Given the description of an element on the screen output the (x, y) to click on. 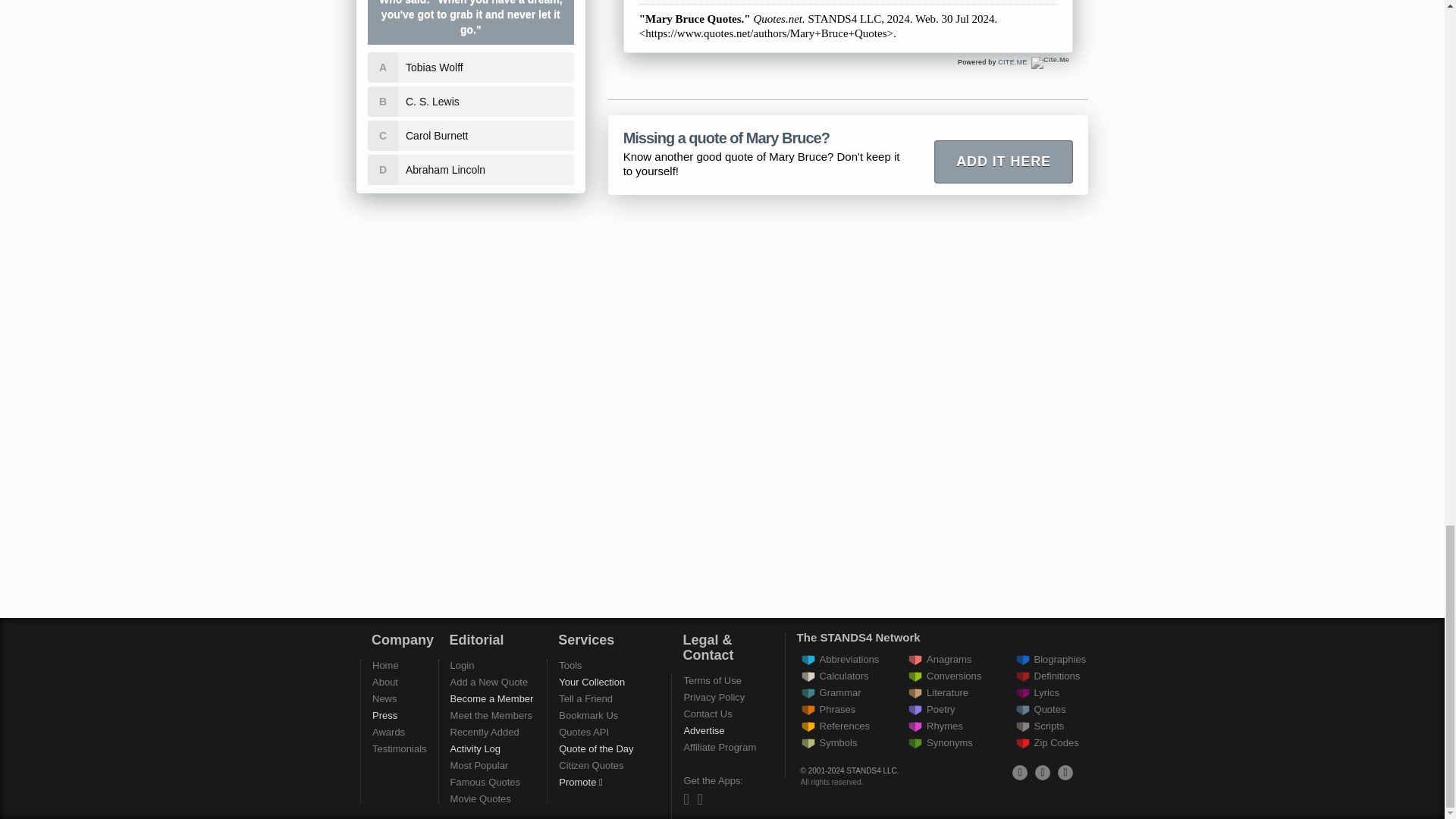
Cite.Me (1049, 62)
Cite.Me (1050, 62)
Cite.Me (1012, 62)
